Given the description of an element on the screen output the (x, y) to click on. 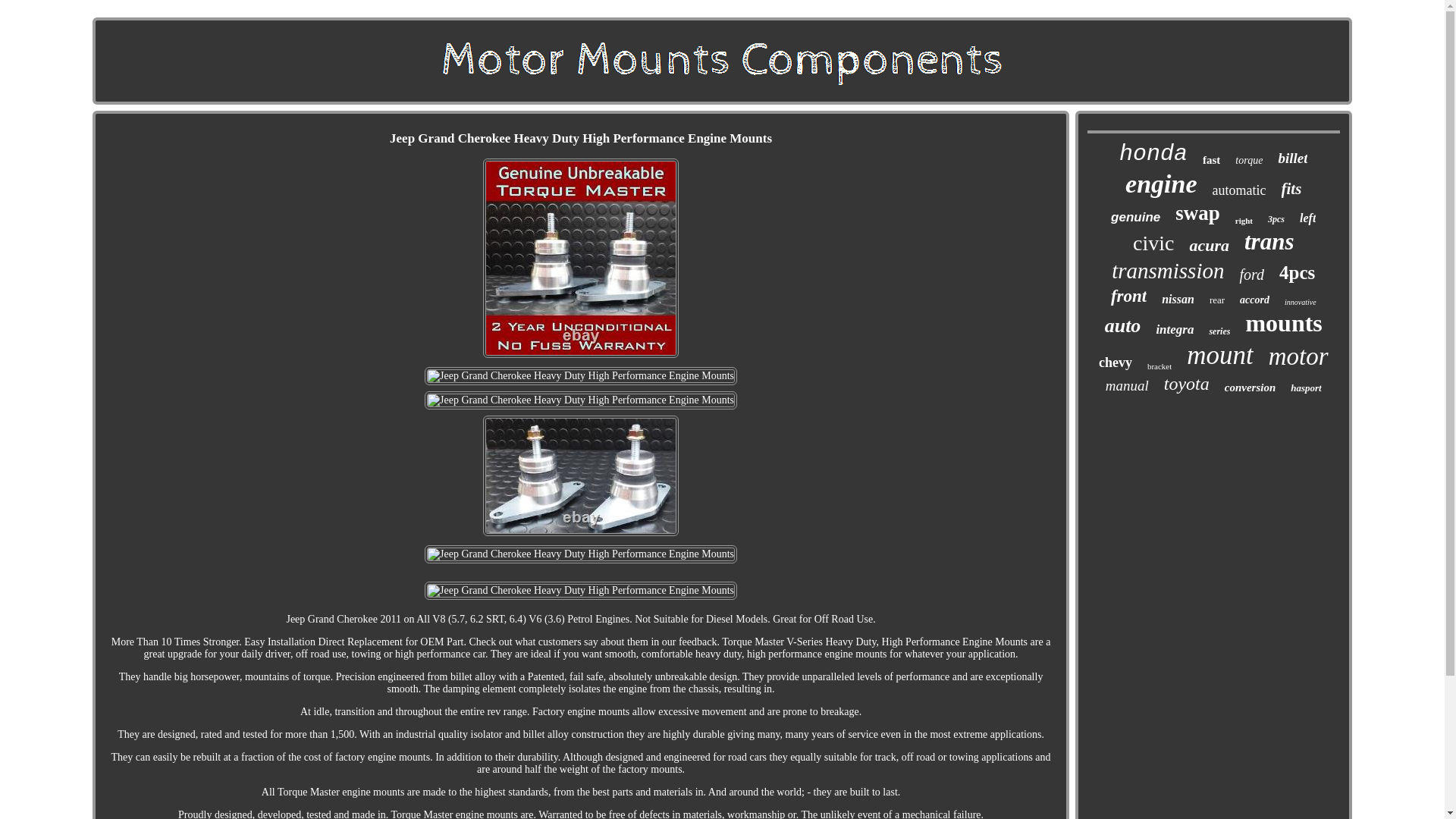
billet (1292, 158)
ford (1251, 274)
accord (1254, 300)
series (1219, 331)
civic (1152, 242)
integra (1174, 329)
fits (1291, 189)
